Given the description of an element on the screen output the (x, y) to click on. 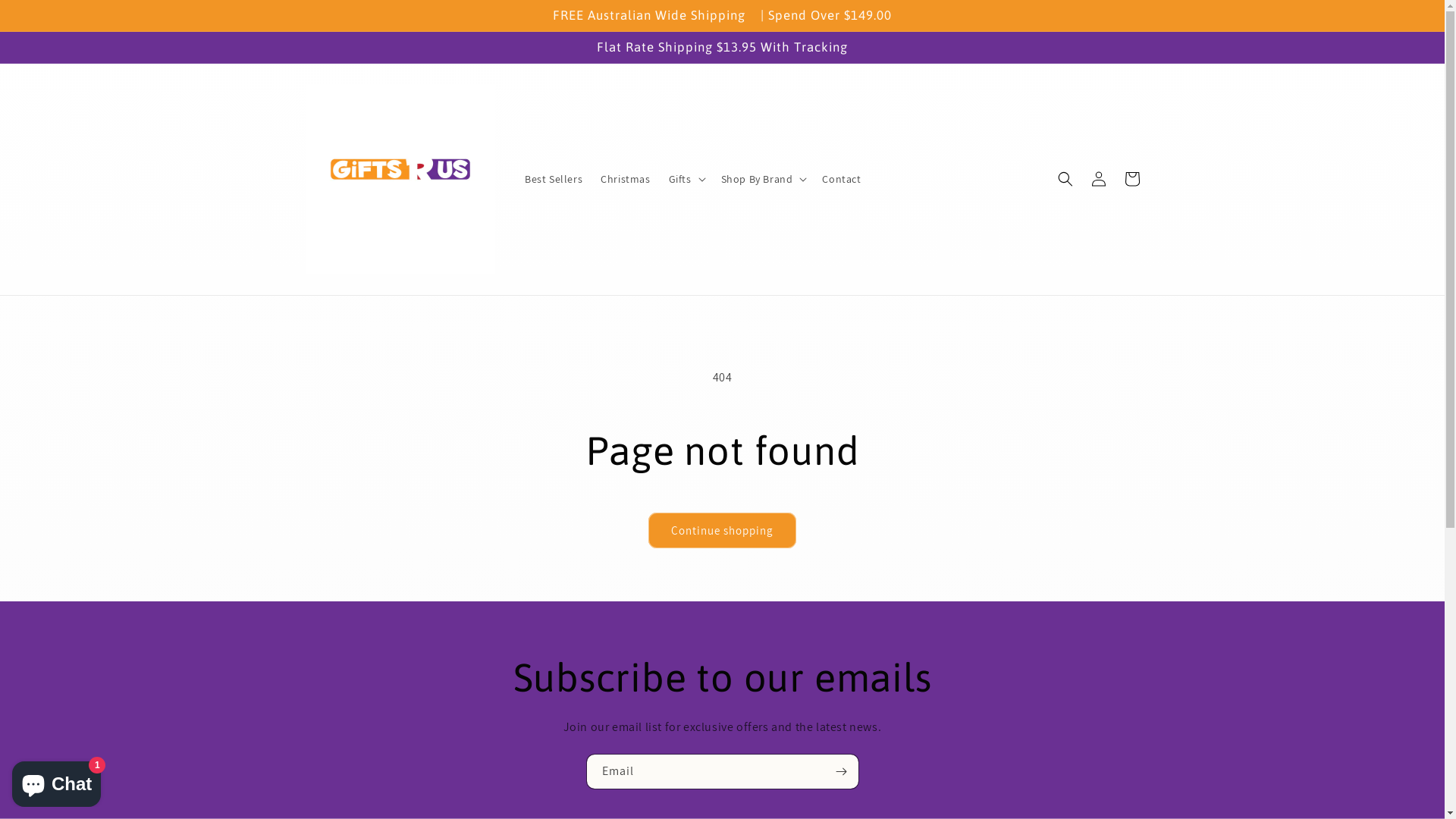
Best Sellers Element type: text (553, 178)
Log in Element type: text (1097, 178)
Contact Element type: text (840, 178)
Cart Element type: text (1131, 178)
Christmas Element type: text (624, 178)
Shopify online store chat Element type: hover (56, 780)
Continue shopping Element type: text (722, 530)
